Given the description of an element on the screen output the (x, y) to click on. 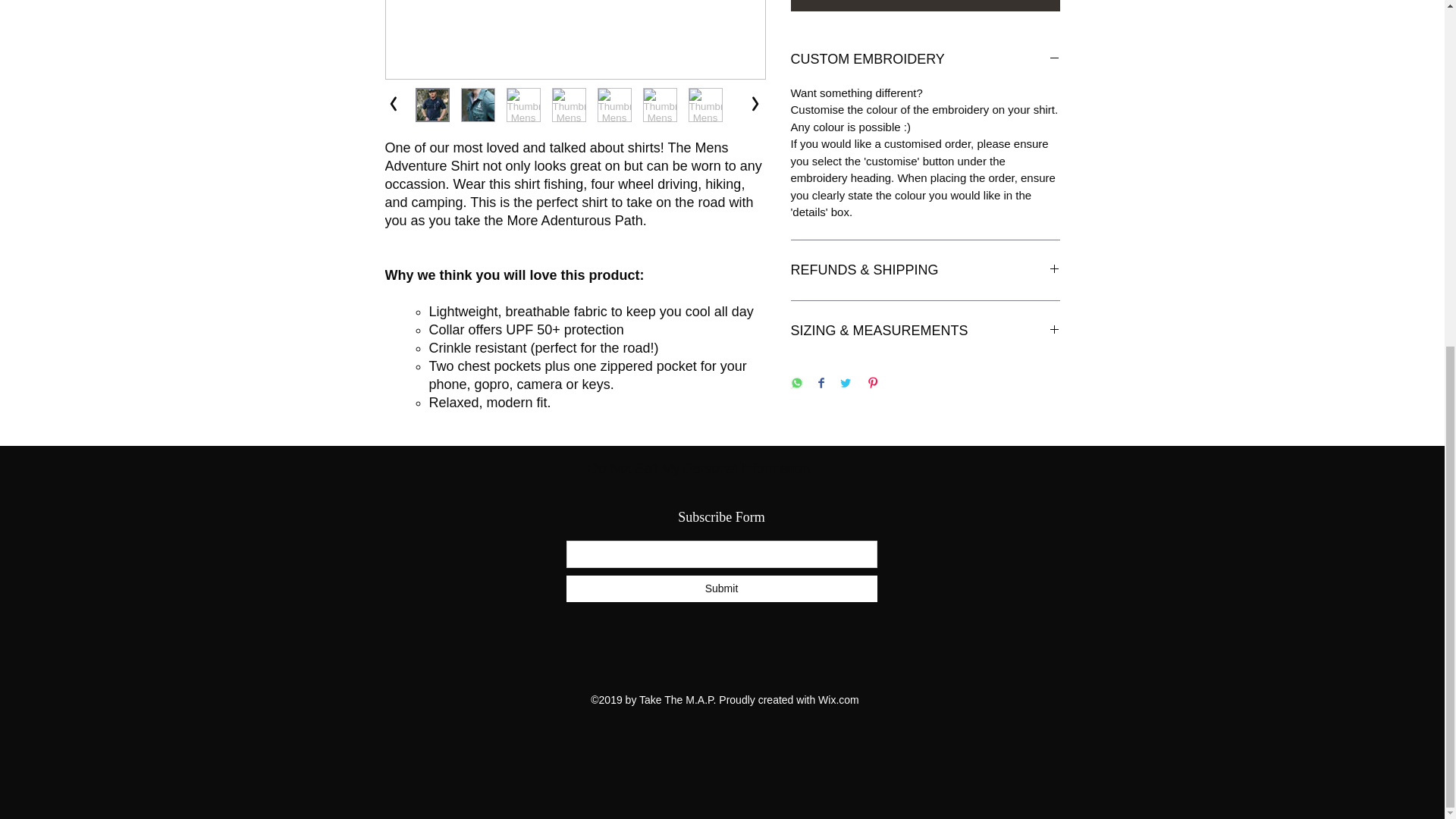
Add to Cart (924, 5)
Submit (721, 588)
CUSTOM EMBROIDERY (924, 59)
Do Not Sell My Personal Information (698, 469)
